Given the description of an element on the screen output the (x, y) to click on. 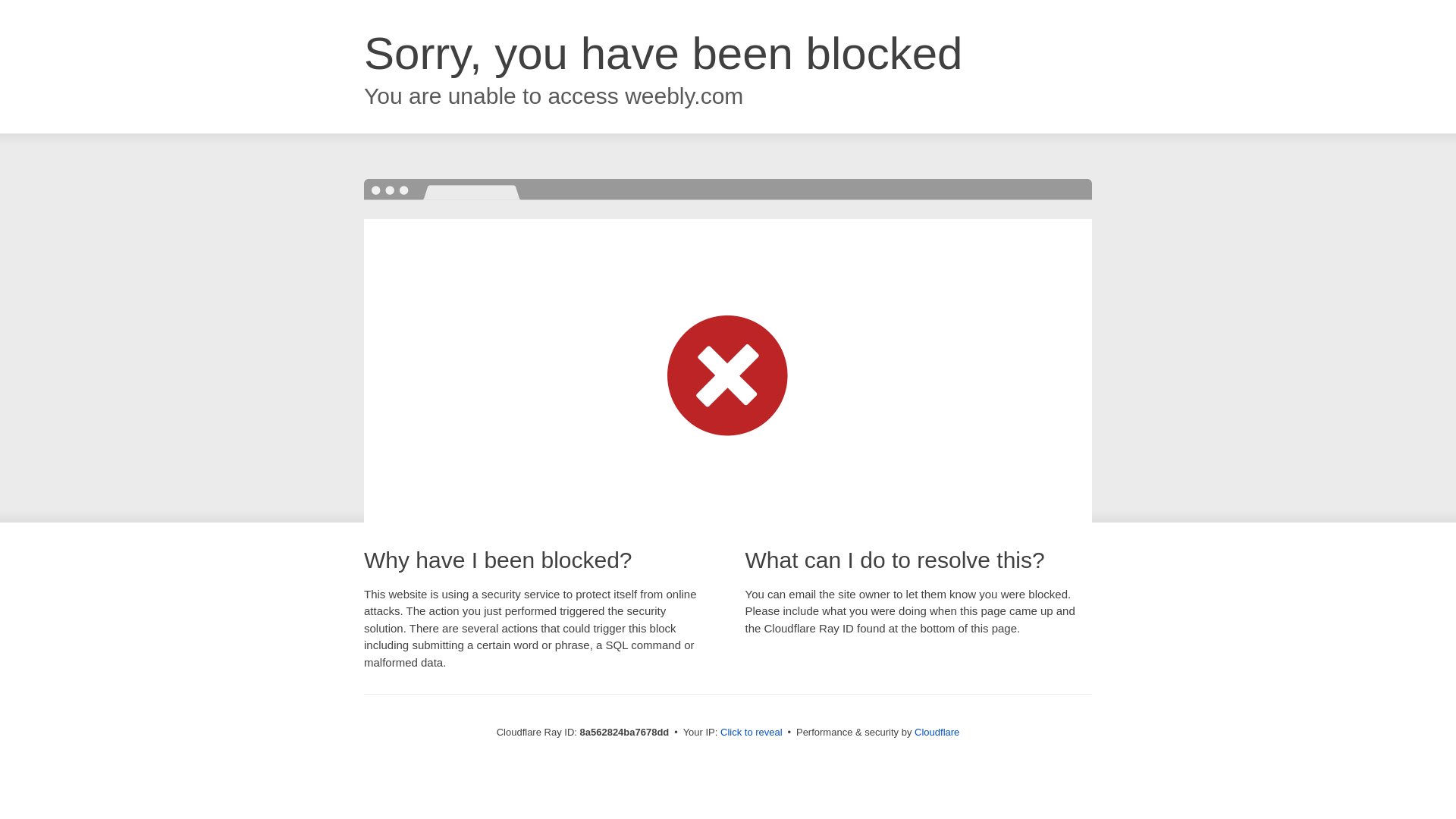
Click to reveal (751, 732)
Cloudflare (936, 731)
